Given the description of an element on the screen output the (x, y) to click on. 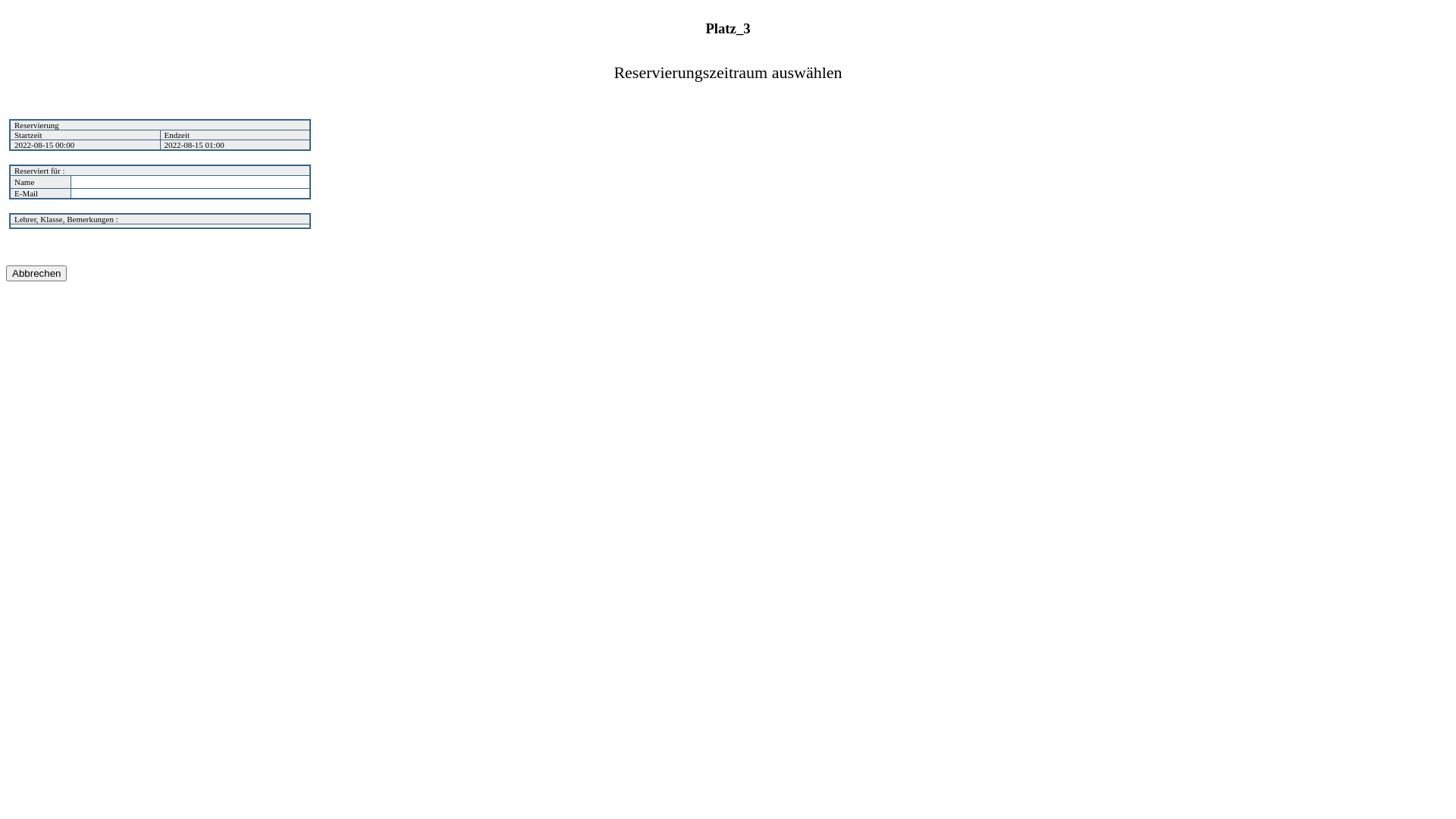
Abbrechen Element type: text (36, 273)
